Given the description of an element on the screen output the (x, y) to click on. 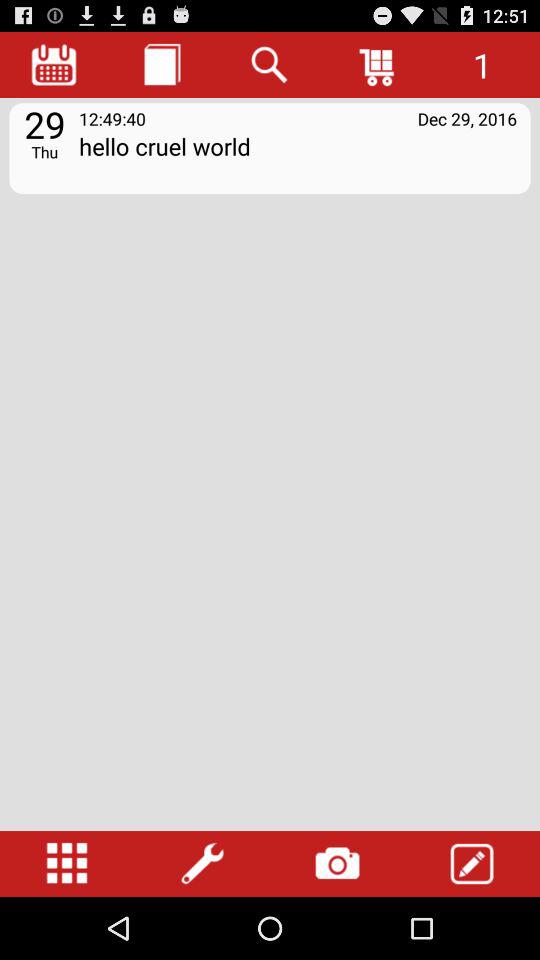
tap app below the 1 item (467, 118)
